Given the description of an element on the screen output the (x, y) to click on. 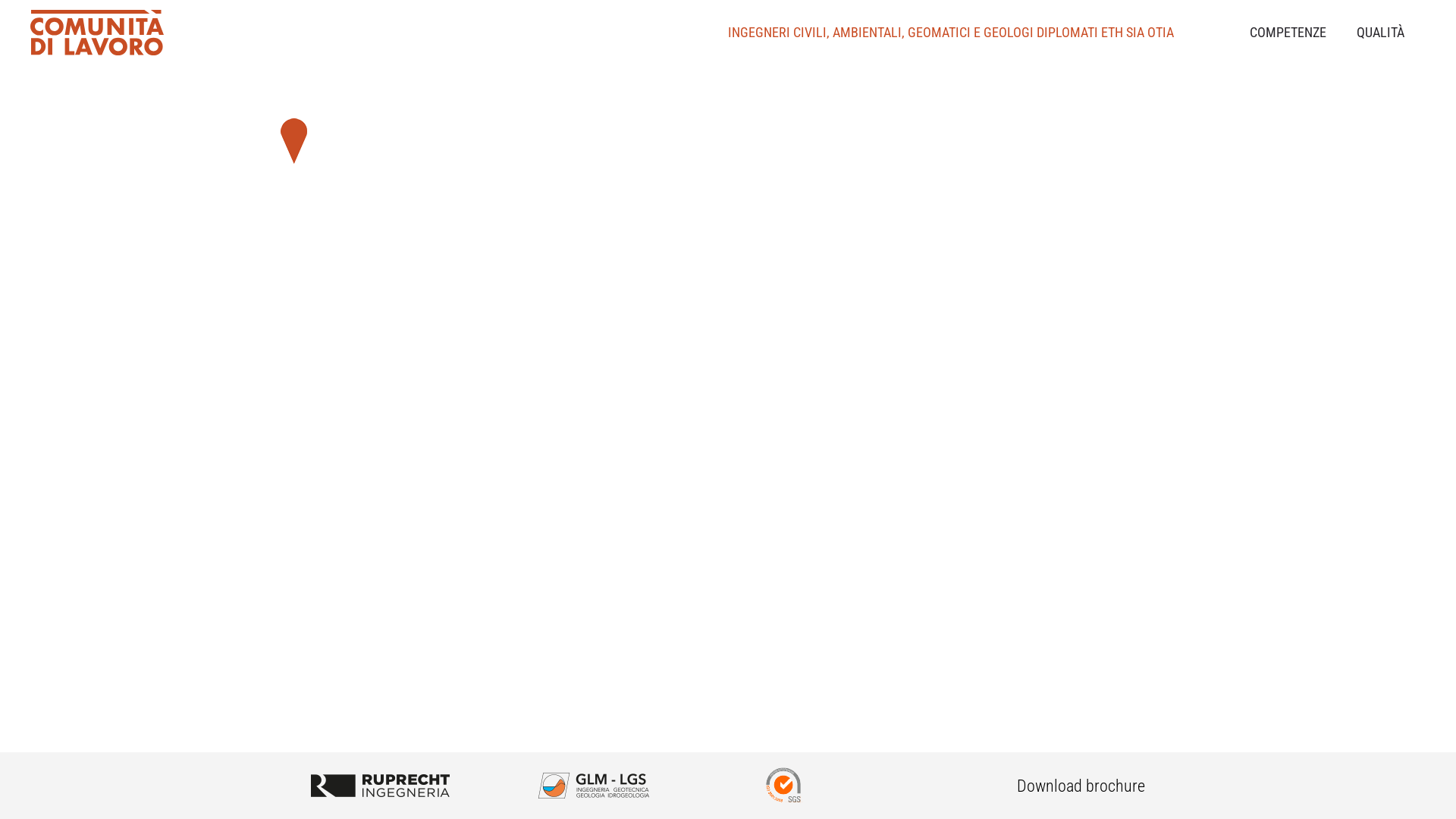
COMPETENZE Element type: text (1287, 32)
Download brochure Element type: text (1080, 785)
